Given the description of an element on the screen output the (x, y) to click on. 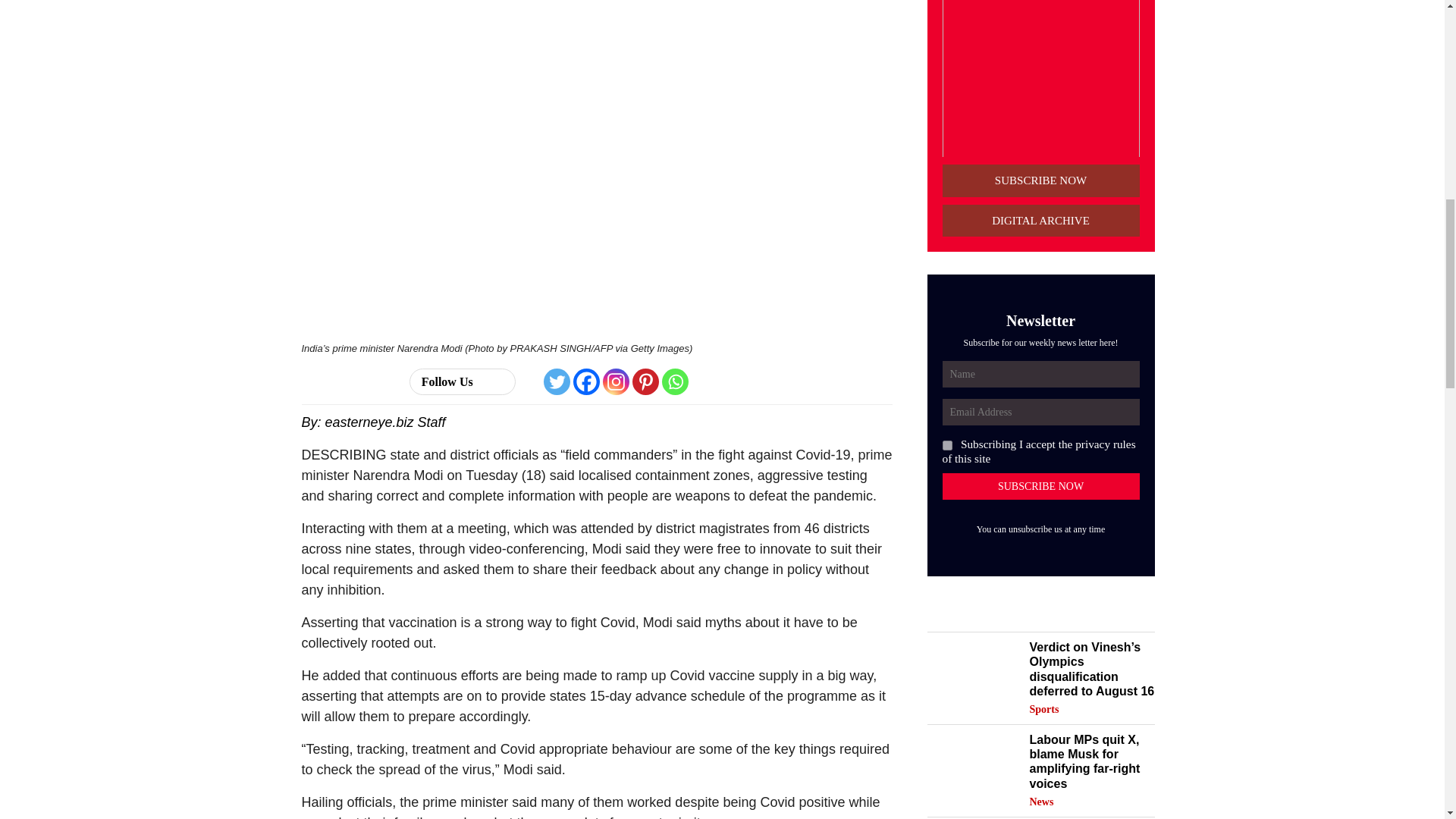
Facebook (586, 381)
Twitter (556, 381)
Pinterest (645, 381)
Instagram (615, 381)
Subscribe Now (1040, 486)
on (947, 445)
Whatsapp (675, 381)
